Given the description of an element on the screen output the (x, y) to click on. 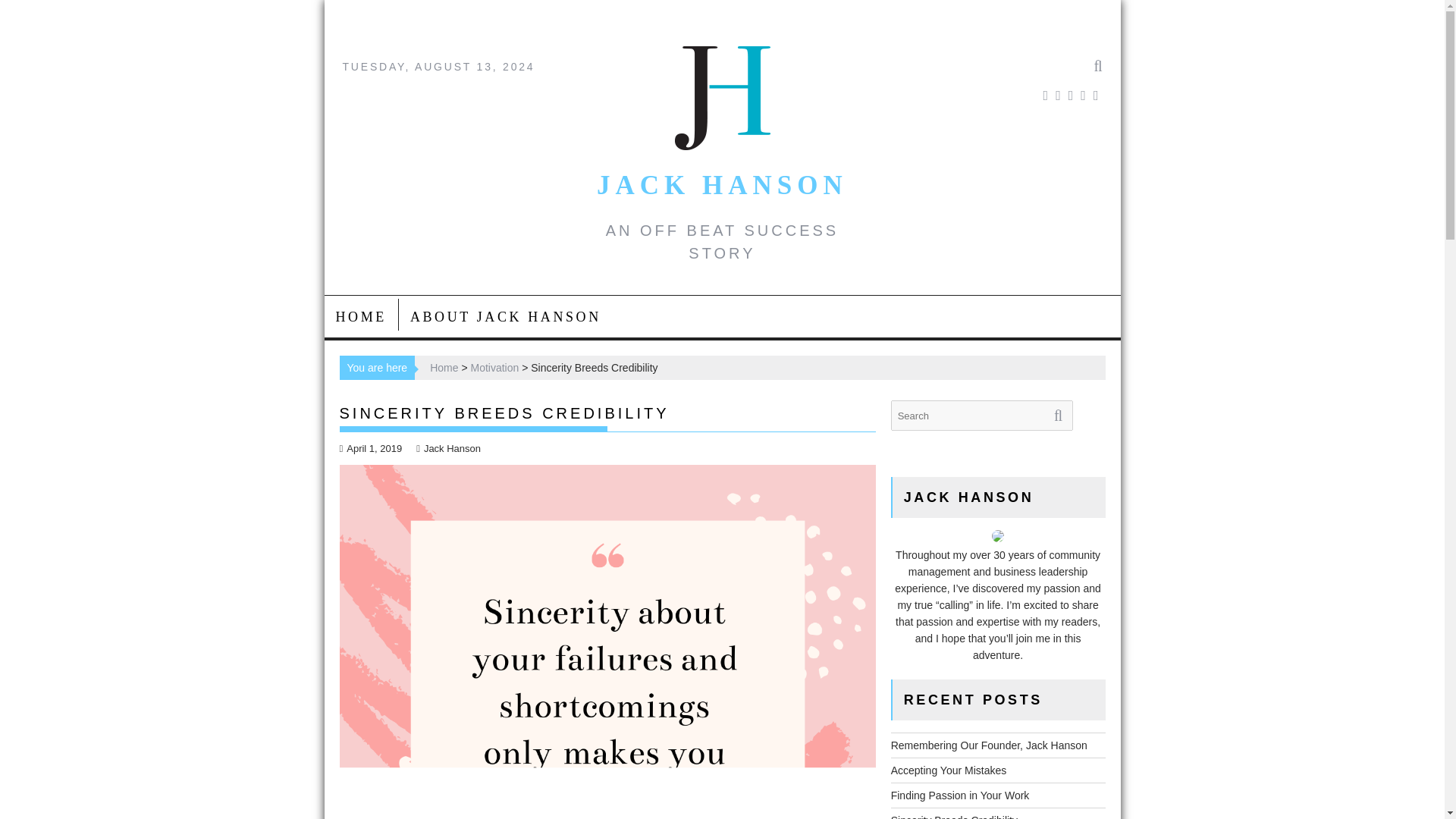
April 1, 2019 (371, 448)
Motivation (494, 367)
Finding Passion in Your Work (960, 795)
Accepting Your Mistakes (949, 770)
ABOUT JACK HANSON (505, 316)
Sincerity Breeds Credibility (954, 816)
Remembering Our Founder, Jack Hanson (989, 745)
Home (443, 367)
